Given the description of an element on the screen output the (x, y) to click on. 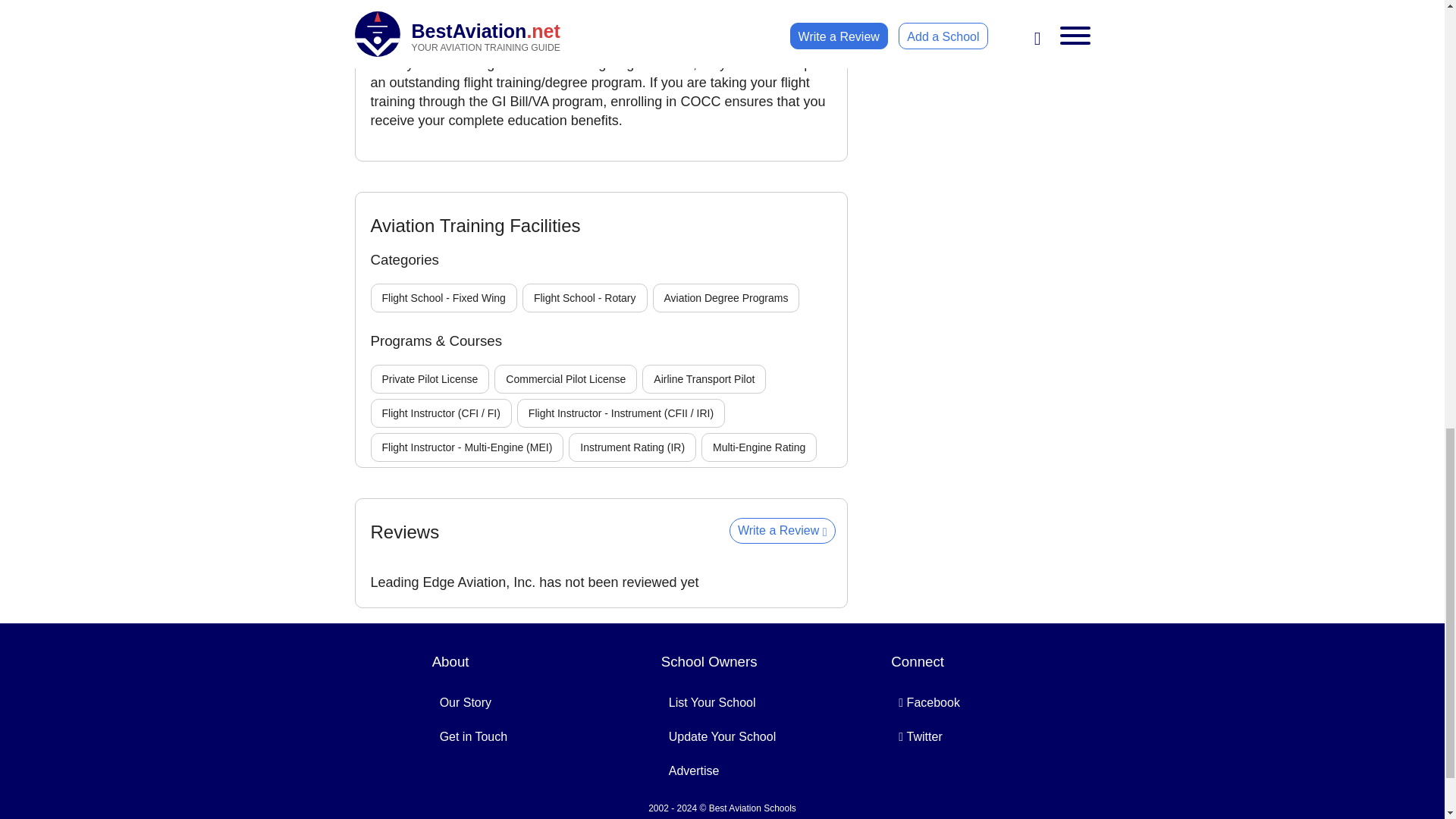
Advertise (693, 770)
Write a Review (782, 530)
List Your School (711, 702)
Get in Touch (473, 736)
Our Story (465, 702)
Twitter (920, 736)
Facebook (929, 702)
Update Your School (722, 736)
